Given the description of an element on the screen output the (x, y) to click on. 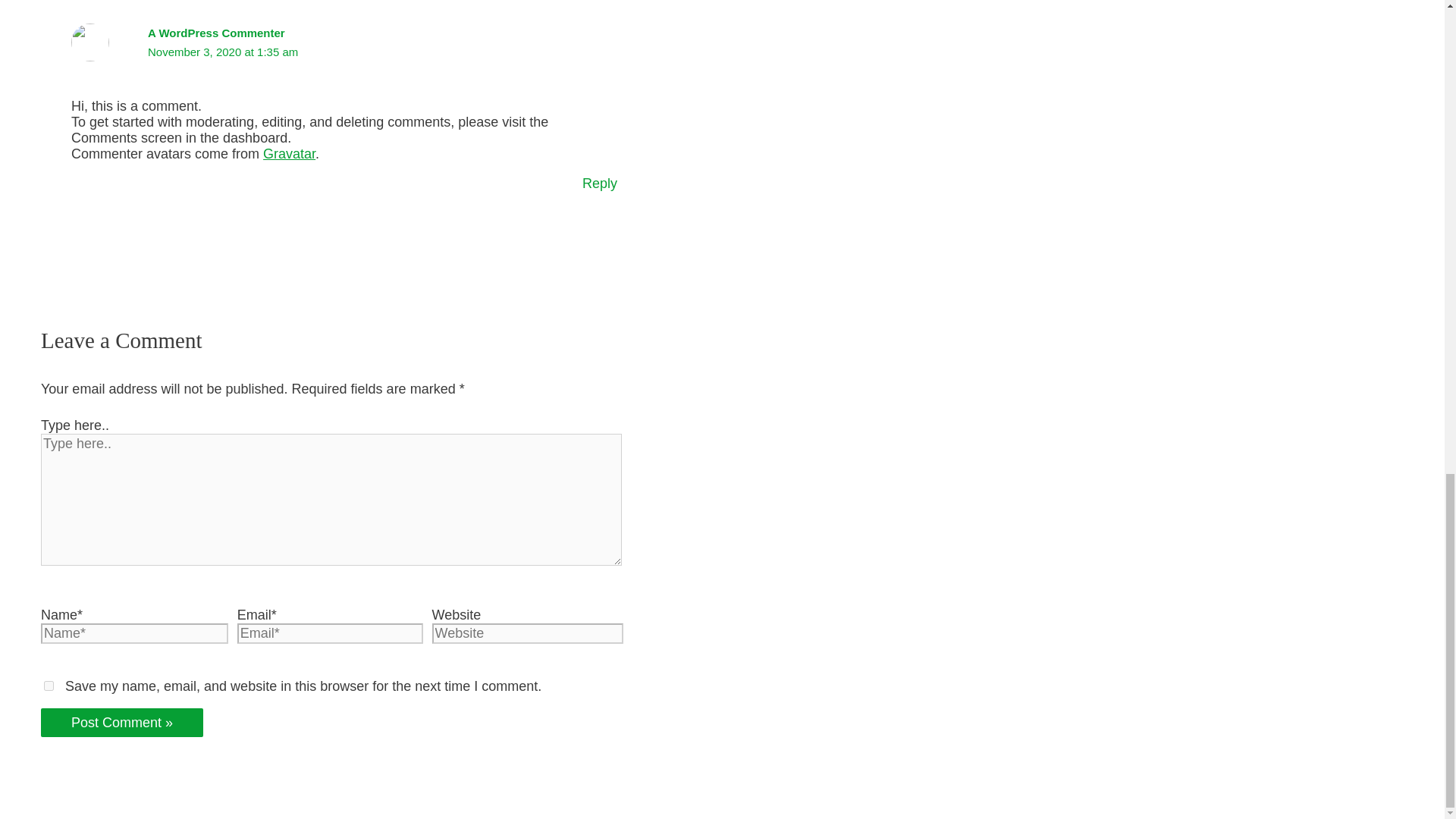
A WordPress Commenter (216, 32)
Gravatar (289, 153)
Reply (599, 183)
November 3, 2020 at 1:35 am (223, 51)
yes (48, 685)
